Given the description of an element on the screen output the (x, y) to click on. 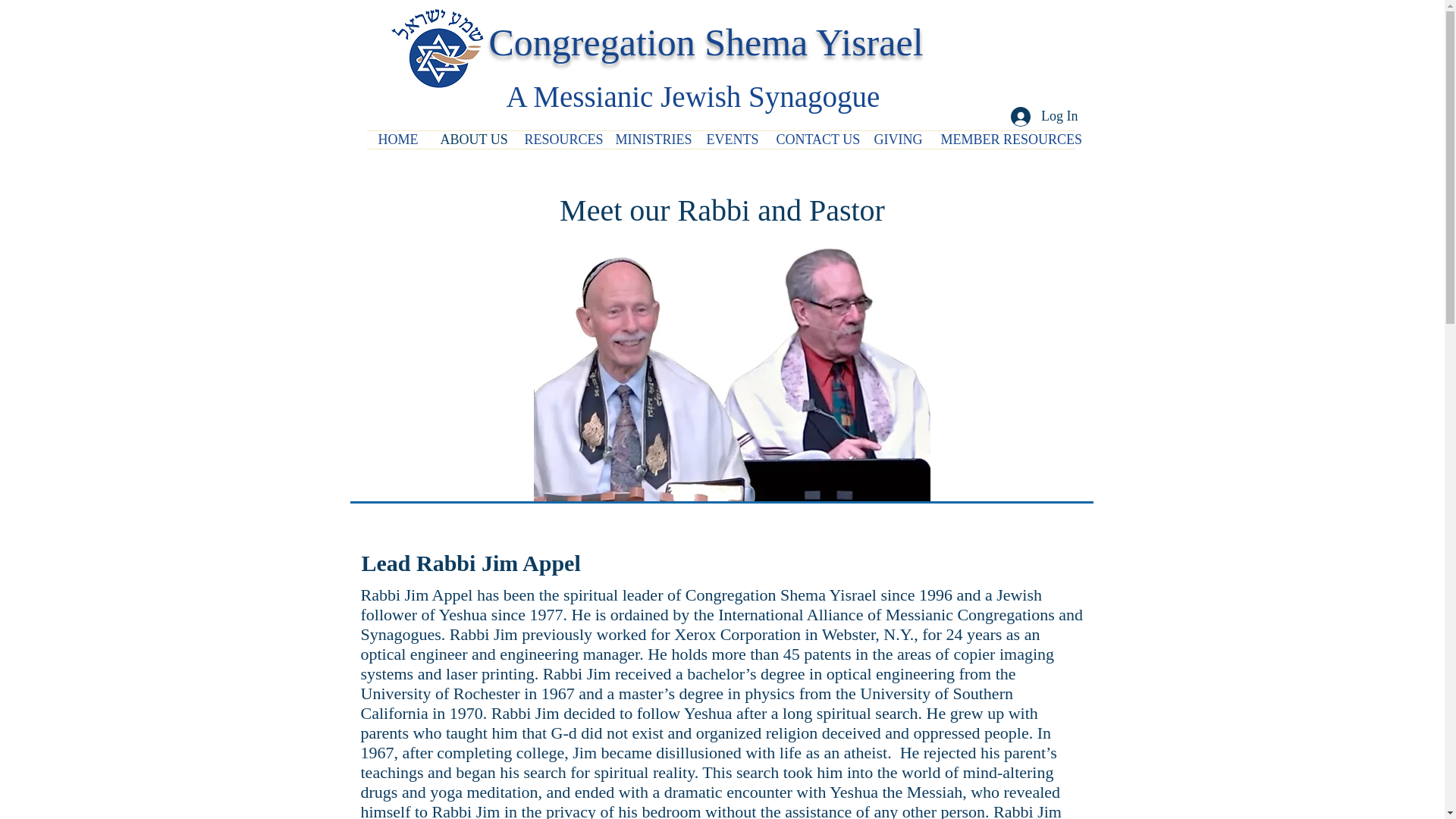
GIVING (896, 139)
dad1.jpg (732, 340)
HOME (397, 139)
RESOURCES (558, 139)
Congregation Shema Yisrael (705, 42)
Log In (1044, 115)
ABOUT US (471, 139)
CONTACT US (812, 139)
A Messianic Jewish Synagogue (693, 96)
MEMBER RESOURCES (1002, 139)
